Given the description of an element on the screen output the (x, y) to click on. 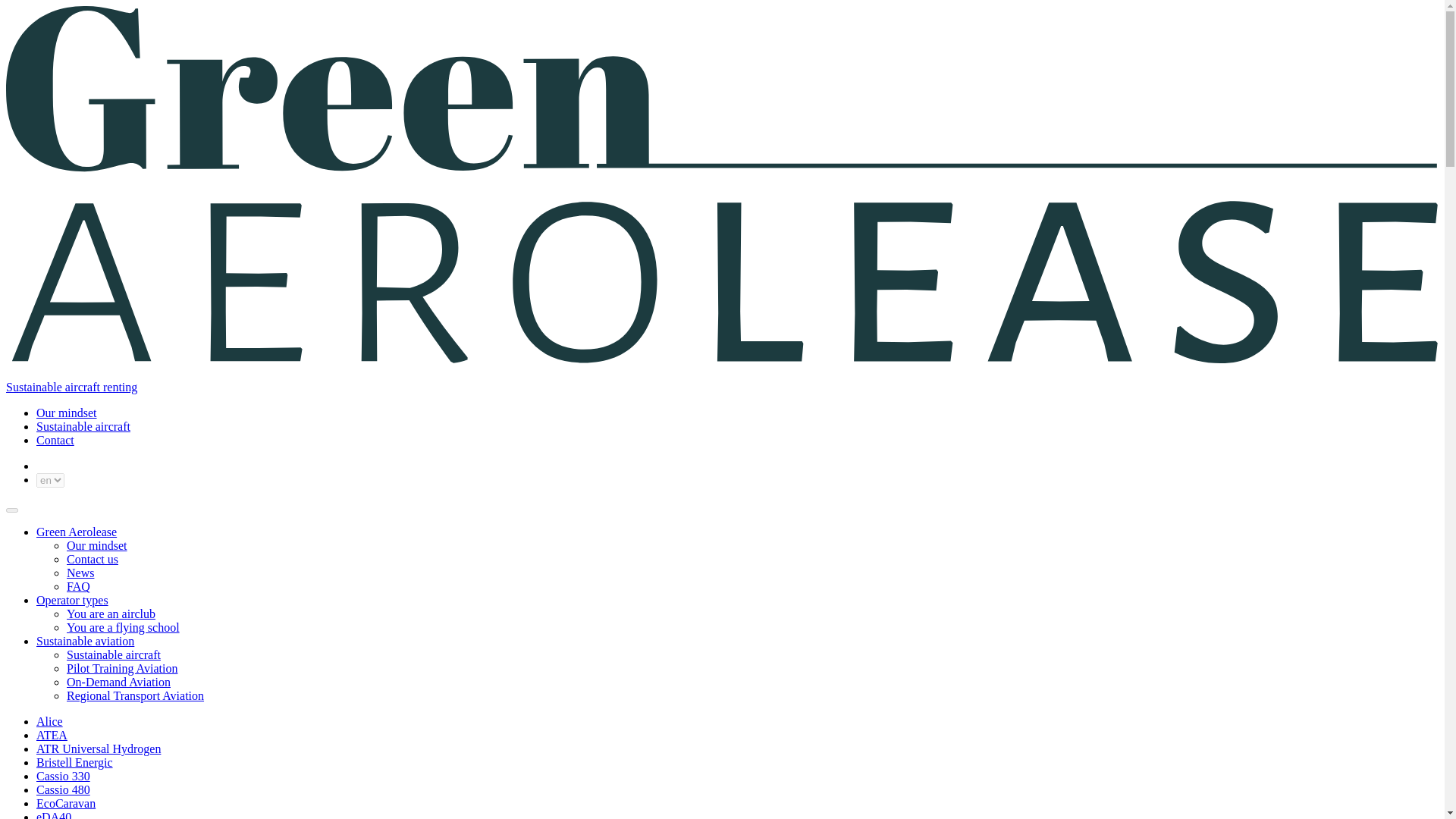
FAQ (78, 585)
Cassio 480 (63, 789)
Contact (55, 440)
Our mindset (66, 412)
You are a flying school (122, 626)
Green Aerolease (76, 531)
ATR Universal Hydrogen (98, 748)
Sustainable aviation (84, 640)
Operator types (71, 599)
eDA40 (53, 814)
